Given the description of an element on the screen output the (x, y) to click on. 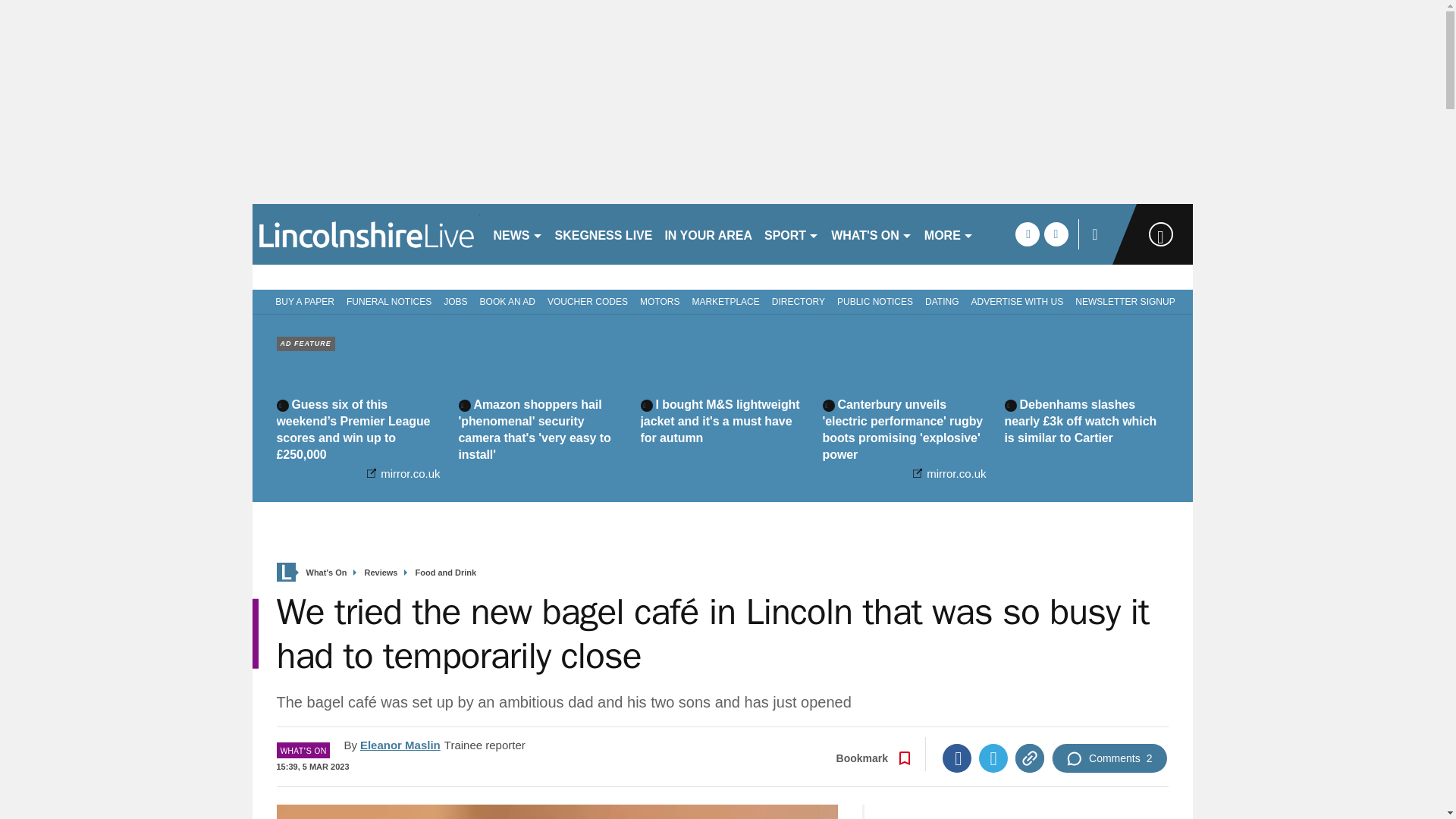
Comments (1108, 758)
BUY A PAPER (301, 300)
Facebook (956, 758)
SPORT (791, 233)
Twitter (992, 758)
MORE (948, 233)
IN YOUR AREA (708, 233)
twitter (1055, 233)
lincolnshirelive (365, 233)
SKEGNESS LIVE (603, 233)
